Given the description of an element on the screen output the (x, y) to click on. 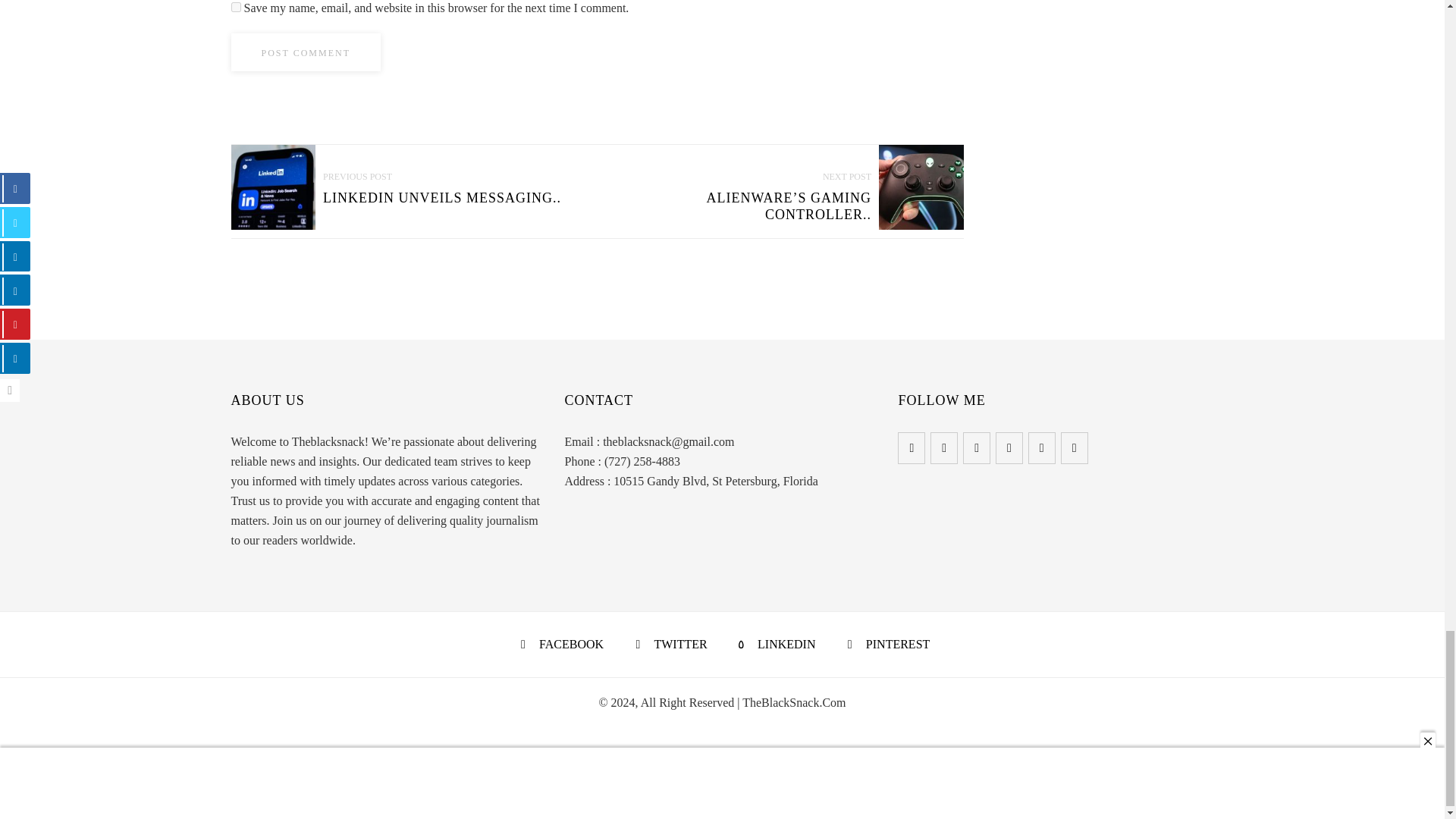
yes (235, 7)
Post Comment (305, 52)
